Given the description of an element on the screen output the (x, y) to click on. 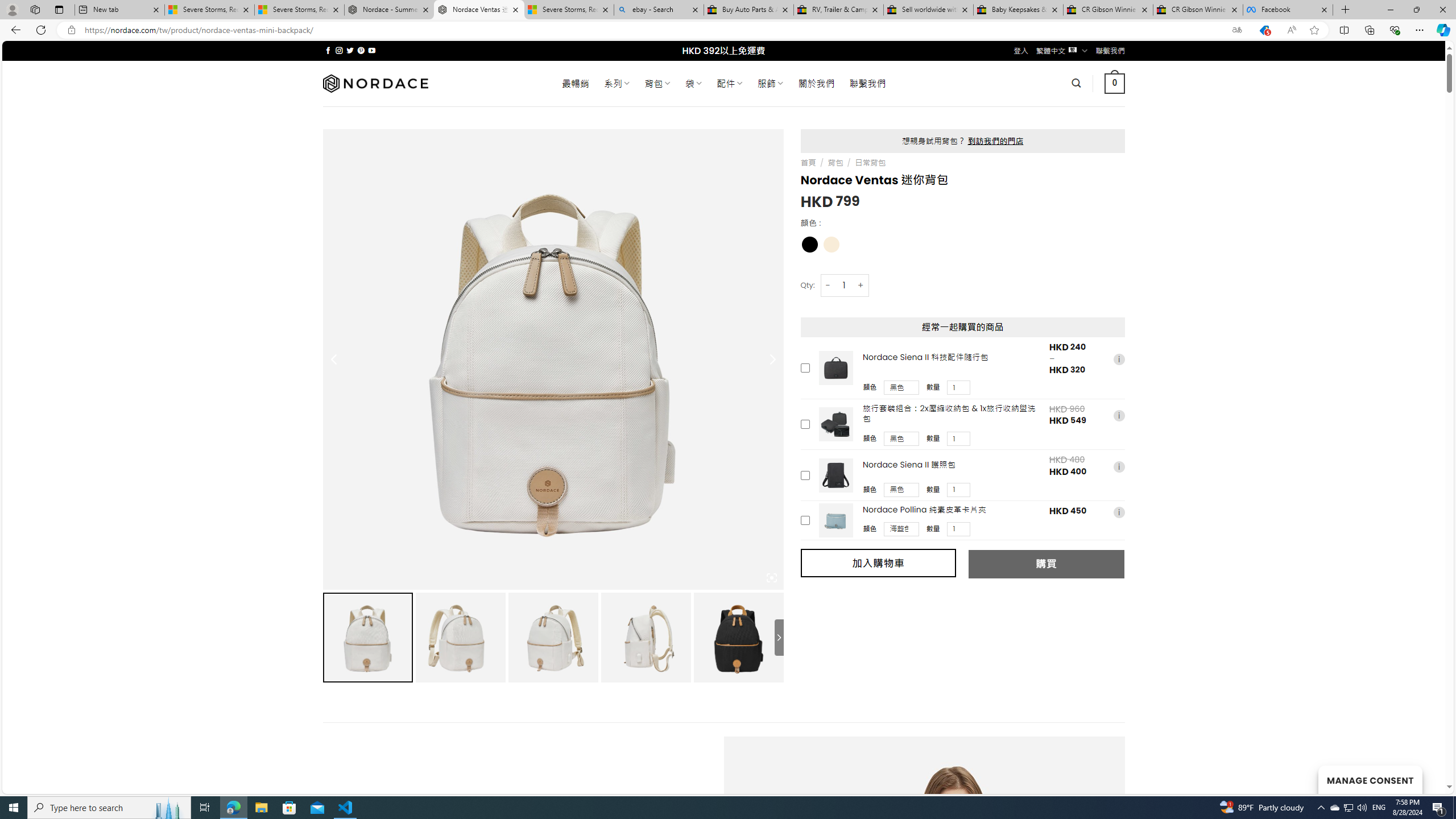
- (827, 284)
